Given the description of an element on the screen output the (x, y) to click on. 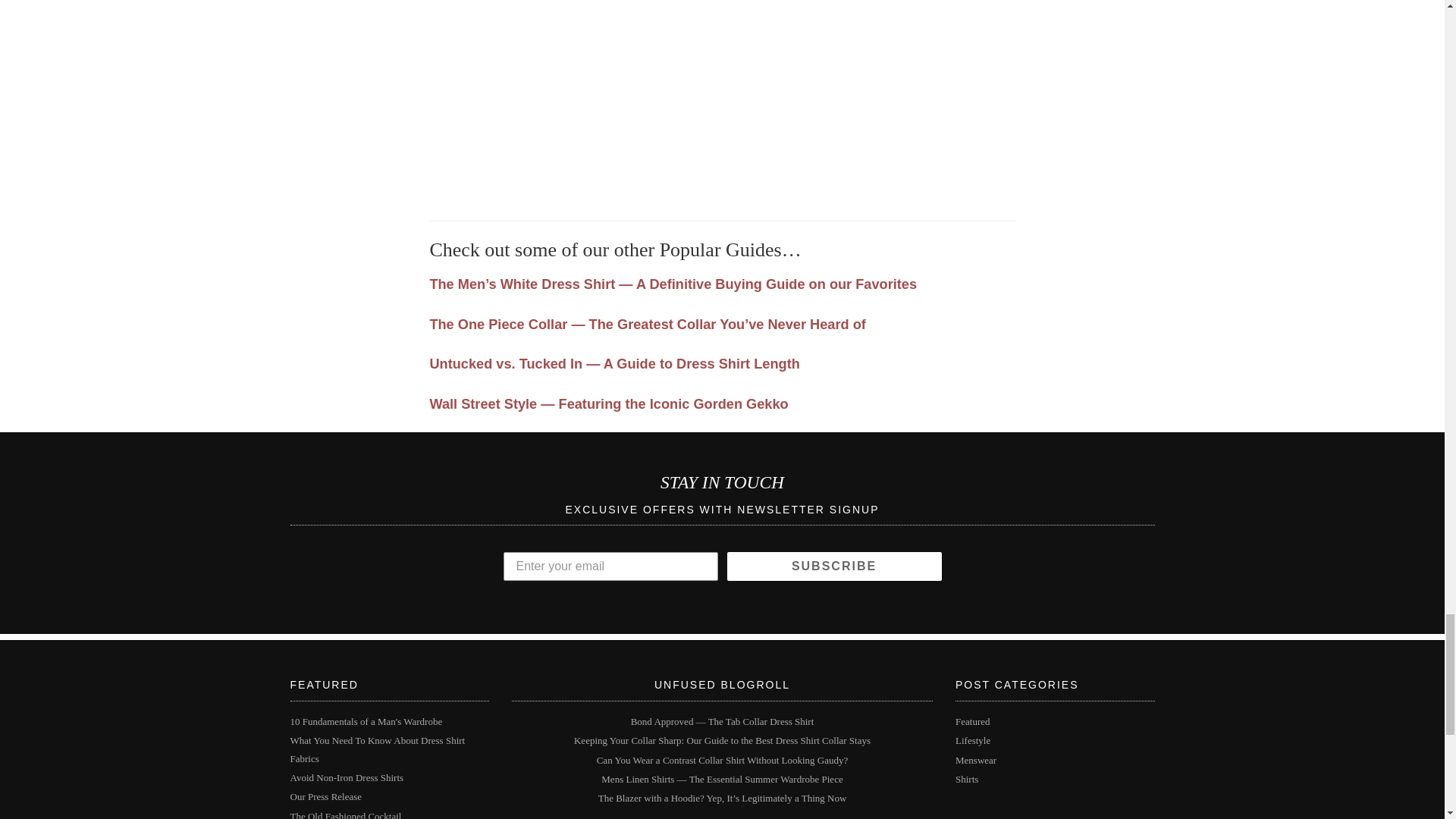
What You Need To Know About Dress Shirt Fabrics (376, 748)
Our Press Release (325, 796)
Avoid Non-Iron Dress Shirts (346, 777)
Menswear (975, 759)
Can You Wear a Contrast Collar Shirt Without Looking Gaudy? (722, 759)
What You Need To Know About Dress Shirt Fabrics (376, 748)
Our Press Release (325, 796)
The Old Fashioned Cocktail (345, 814)
Lifestyle (972, 740)
SUBSCRIBE (833, 566)
Shirts (966, 778)
The Old Fashioned Cocktail (345, 814)
Featured (972, 721)
10 Fundamentals of a Man's Wardrobe (365, 721)
